Given the description of an element on the screen output the (x, y) to click on. 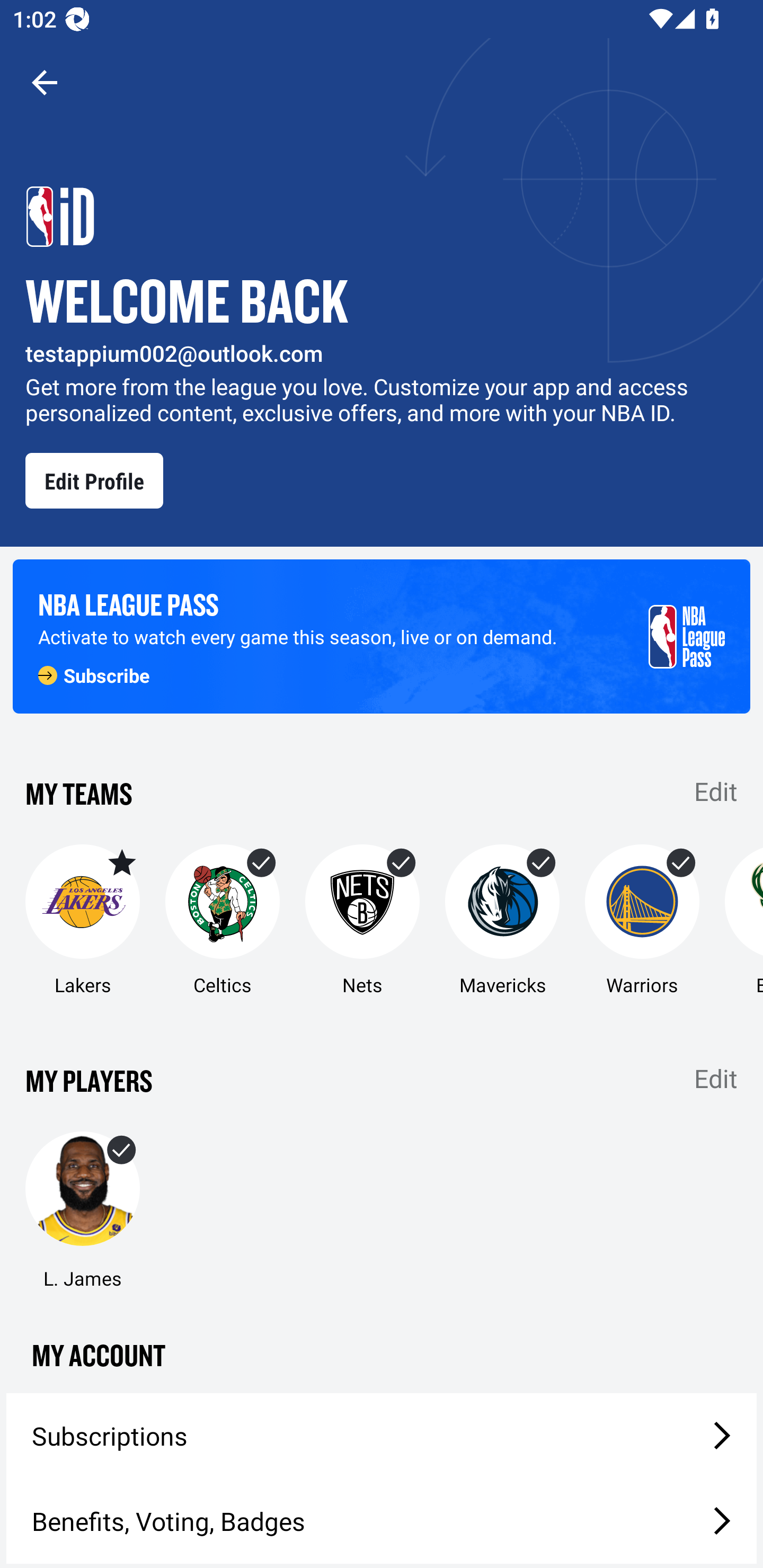
Navigate up (44, 82)
Edit Profile (94, 480)
Edit (715, 790)
Lakers (82, 921)
Celtics (222, 921)
Nets (362, 921)
Mavericks (501, 921)
Warriors (642, 921)
Edit (715, 1078)
L. James (82, 1211)
Subscriptions (381, 1435)
Benefits, Voting, Badges (381, 1520)
